Given the description of an element on the screen output the (x, y) to click on. 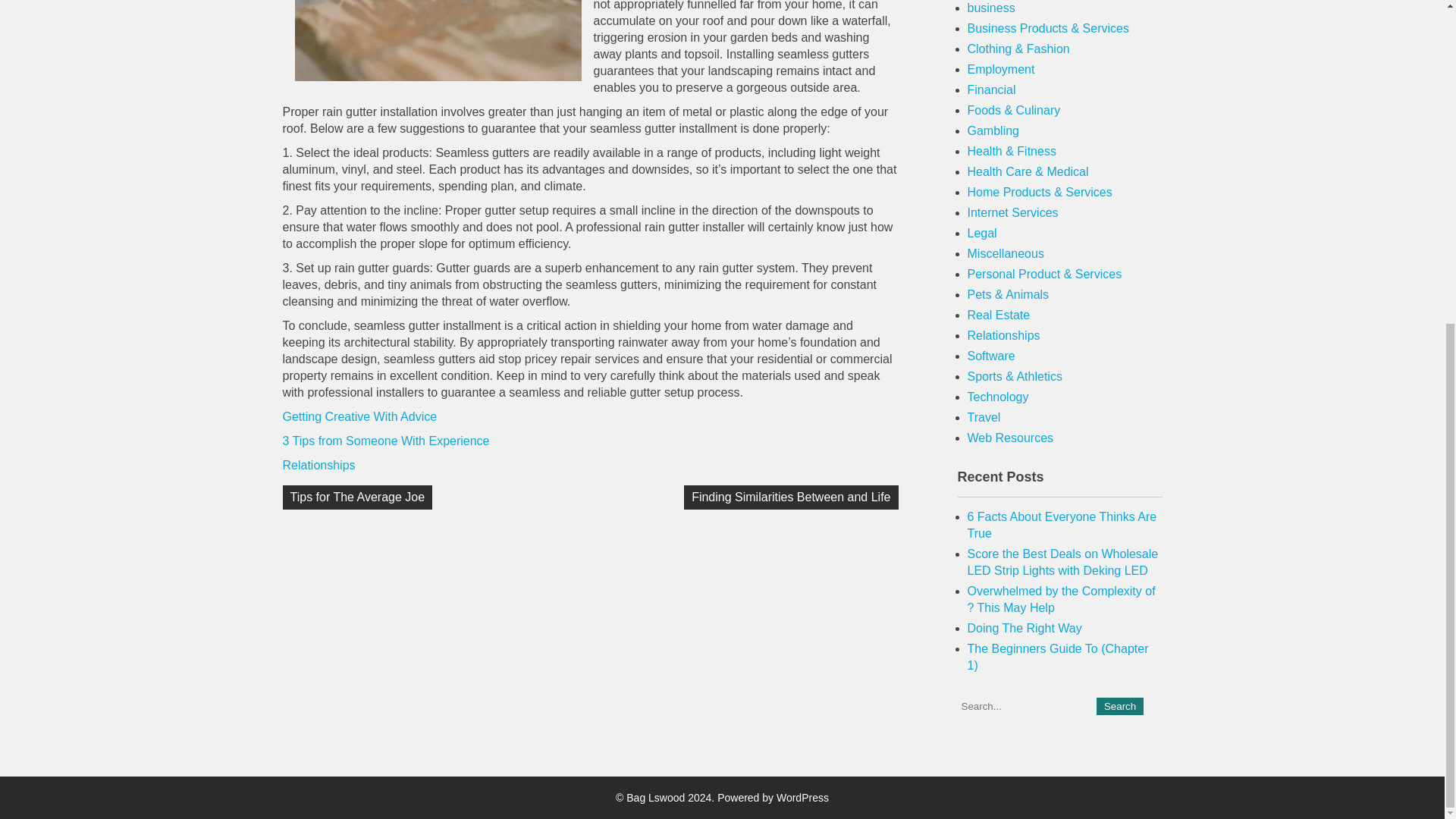
3 Tips from Someone With Experience (385, 440)
Search (1119, 705)
Financial (992, 89)
Employment (1001, 69)
Search (1119, 705)
Finding Similarities Between and Life (791, 497)
Gambling (993, 130)
Tips for The Average Joe (357, 497)
business (991, 7)
Relationships (318, 464)
Getting Creative With Advice (359, 416)
Miscellaneous (1005, 253)
Legal (982, 232)
Internet Services (1013, 212)
